Given the description of an element on the screen output the (x, y) to click on. 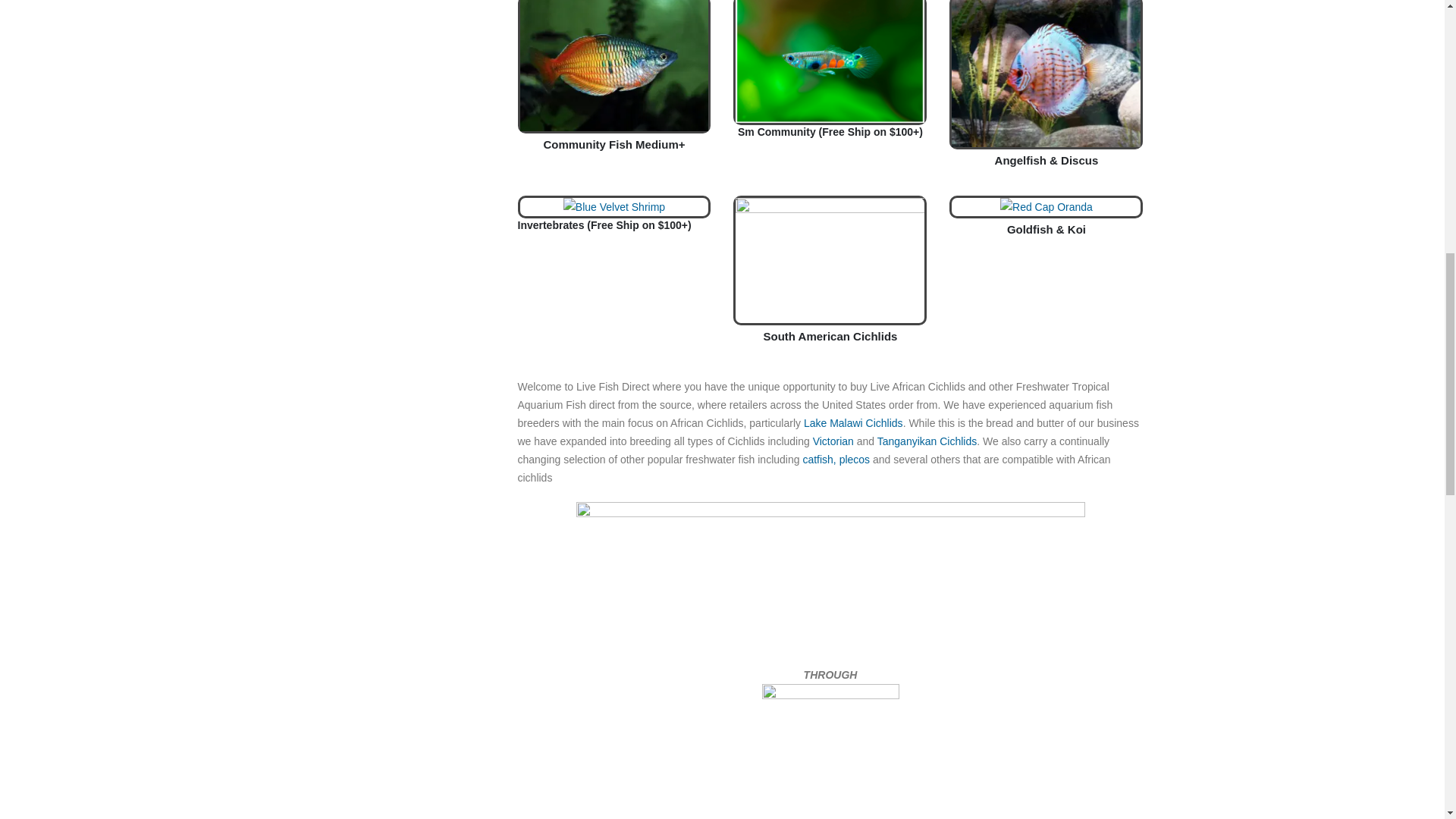
Blue Velvet Shrimp 1 (614, 206)
Boesemani Rainbow 1 (614, 65)
South Americans (829, 259)
endler-guppy (829, 61)
Cobalt Discus 1 (1046, 73)
Red Cap Oranda 1 (1046, 206)
